Given the description of an element on the screen output the (x, y) to click on. 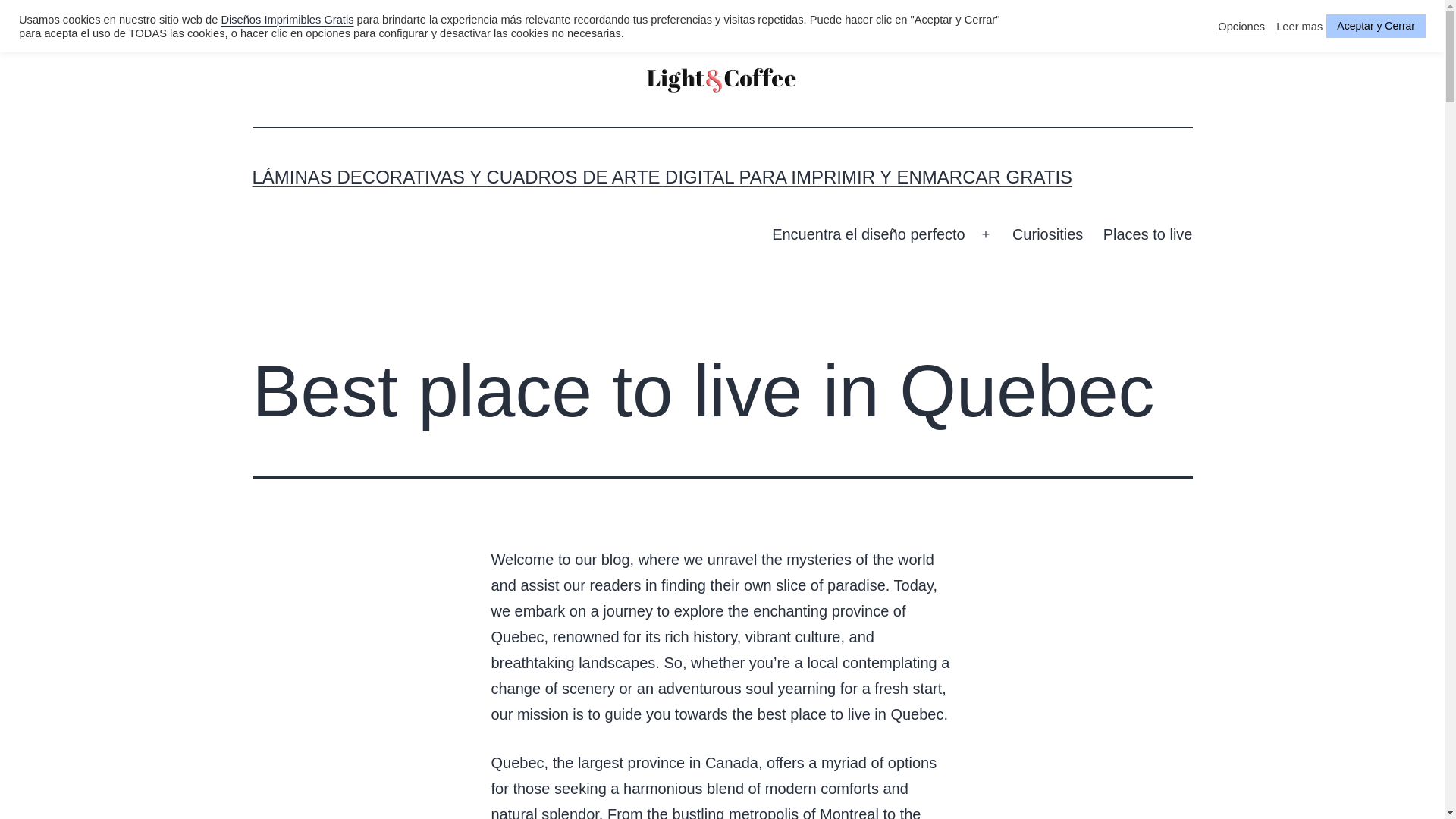
Places to live (1147, 234)
Curiosities (1048, 234)
